Given the description of an element on the screen output the (x, y) to click on. 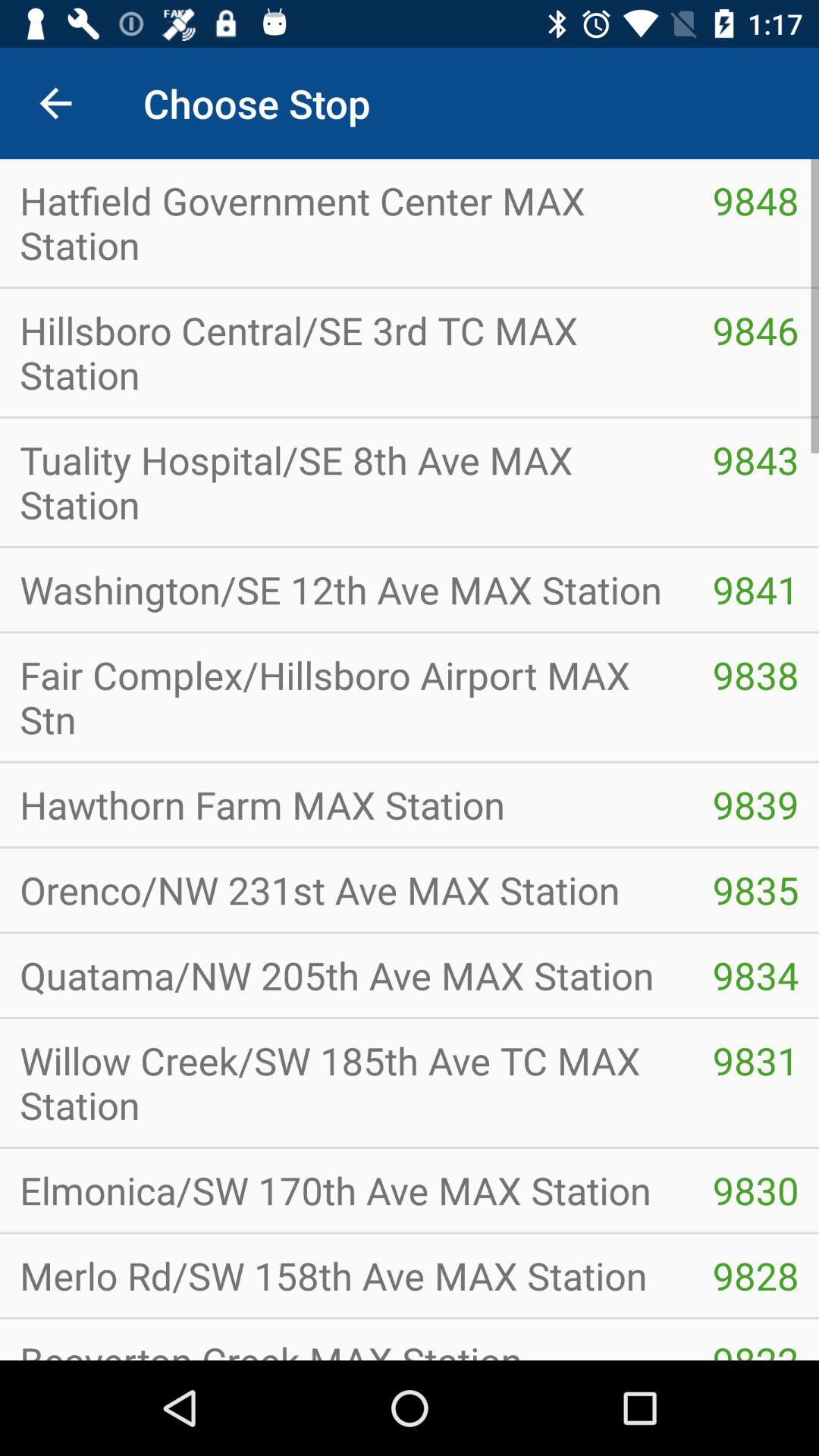
turn off icon below orenco nw 231st item (346, 974)
